Given the description of an element on the screen output the (x, y) to click on. 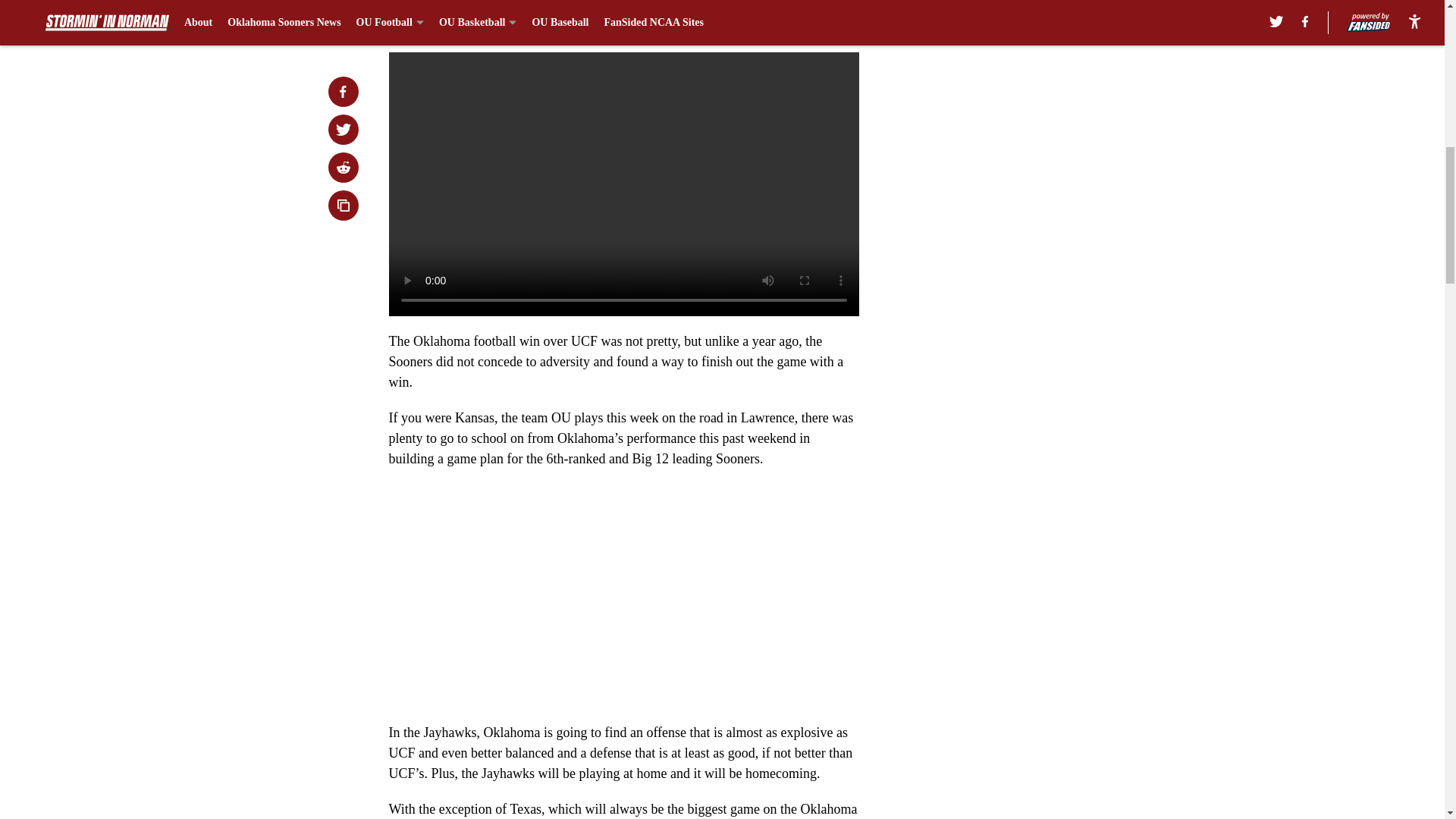
3rd party ad content (1047, 366)
3rd party ad content (1047, 145)
